Given the description of an element on the screen output the (x, y) to click on. 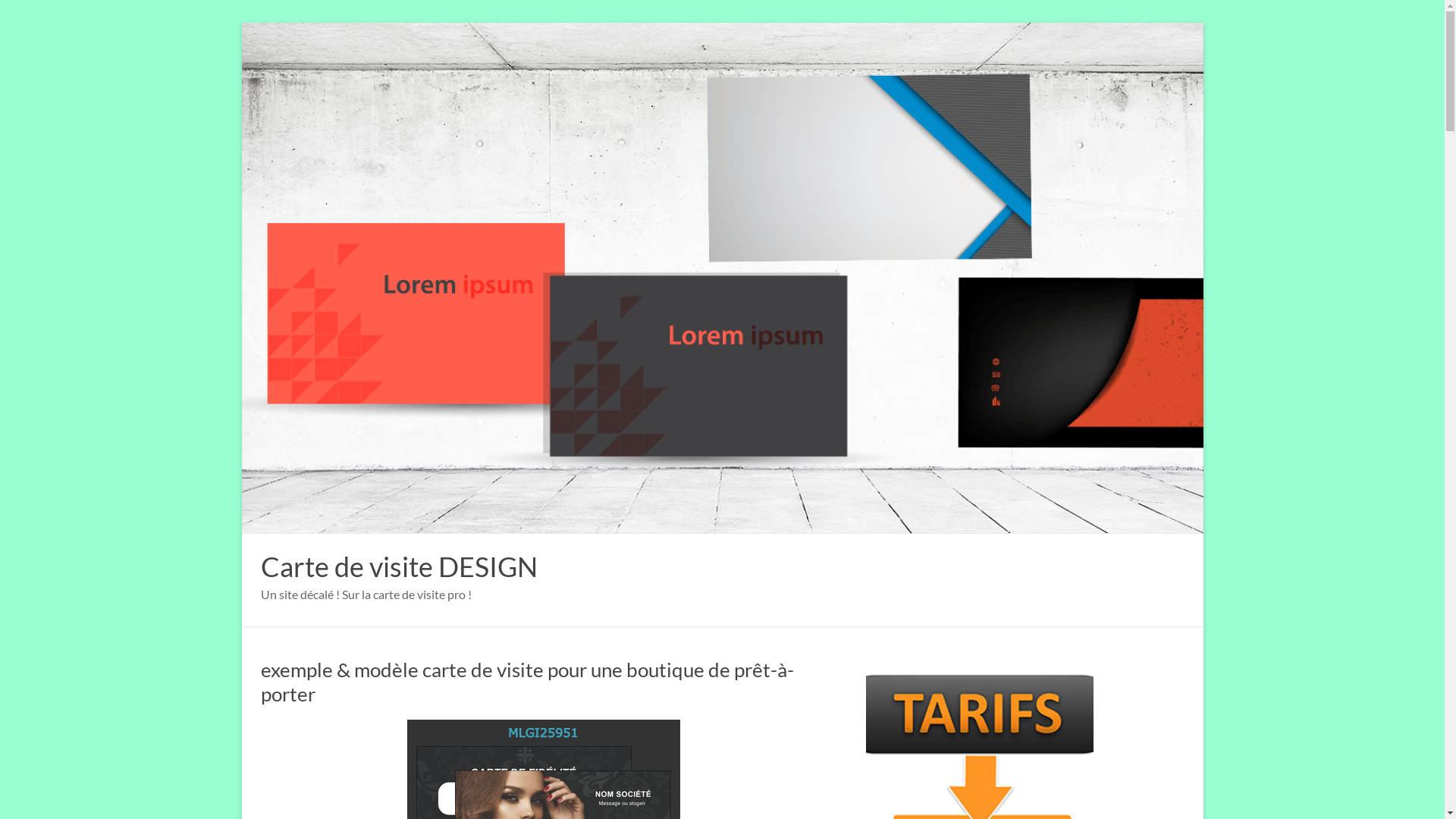
Carte de visite DESIGN Element type: text (398, 566)
Aller au contenu Element type: text (241, 21)
